Given the description of an element on the screen output the (x, y) to click on. 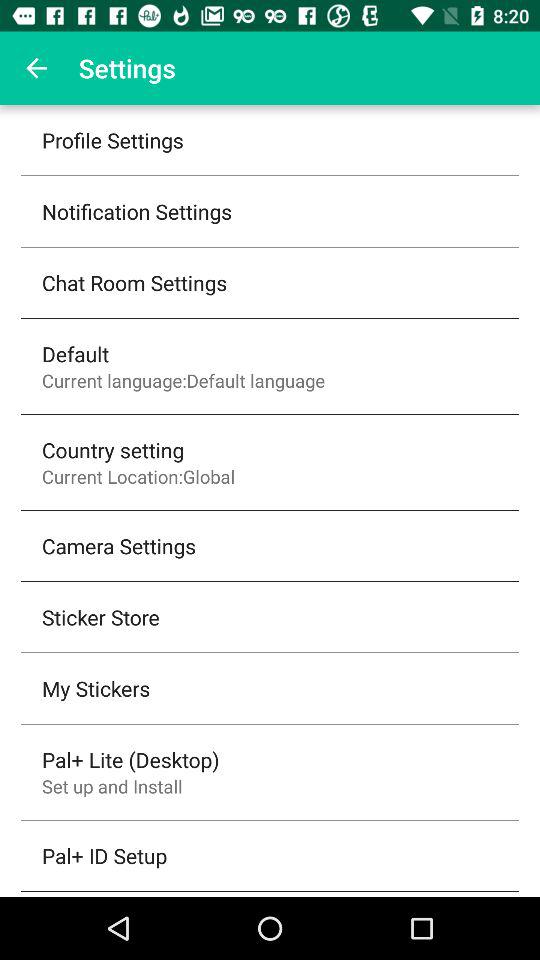
tap item above notification settings (112, 139)
